Given the description of an element on the screen output the (x, y) to click on. 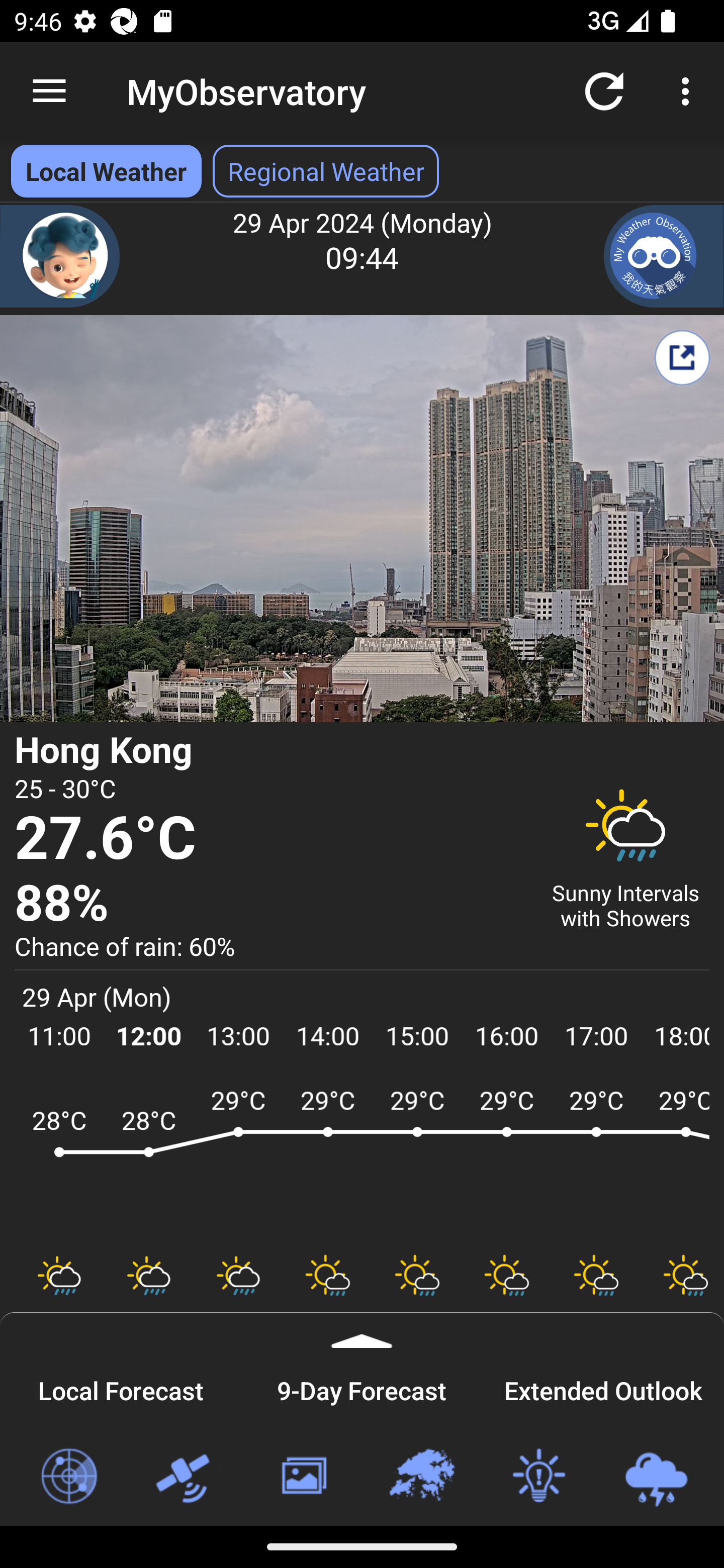
Navigate up (49, 91)
Refresh (604, 90)
More options (688, 90)
Local Weather Local Weather selected (105, 170)
Regional Weather Select Regional Weather (325, 170)
Chatbot (60, 256)
My Weather Observation (663, 256)
Share My Weather Report (681, 357)
27.6°C Temperature
27.6 degree Celsius (270, 839)
88% Relative Humidity
88 percent (270, 903)
ARWF (361, 1160)
Expand (362, 1330)
Local Forecast (120, 1387)
Extended Outlook (603, 1387)
Radar Images (68, 1476)
Satellite Images (185, 1476)
Weather Photos (302, 1476)
Regional Weather (420, 1476)
Weather Tips (537, 1476)
Loc-based Rain & Lightning Forecast (655, 1476)
